Given the description of an element on the screen output the (x, y) to click on. 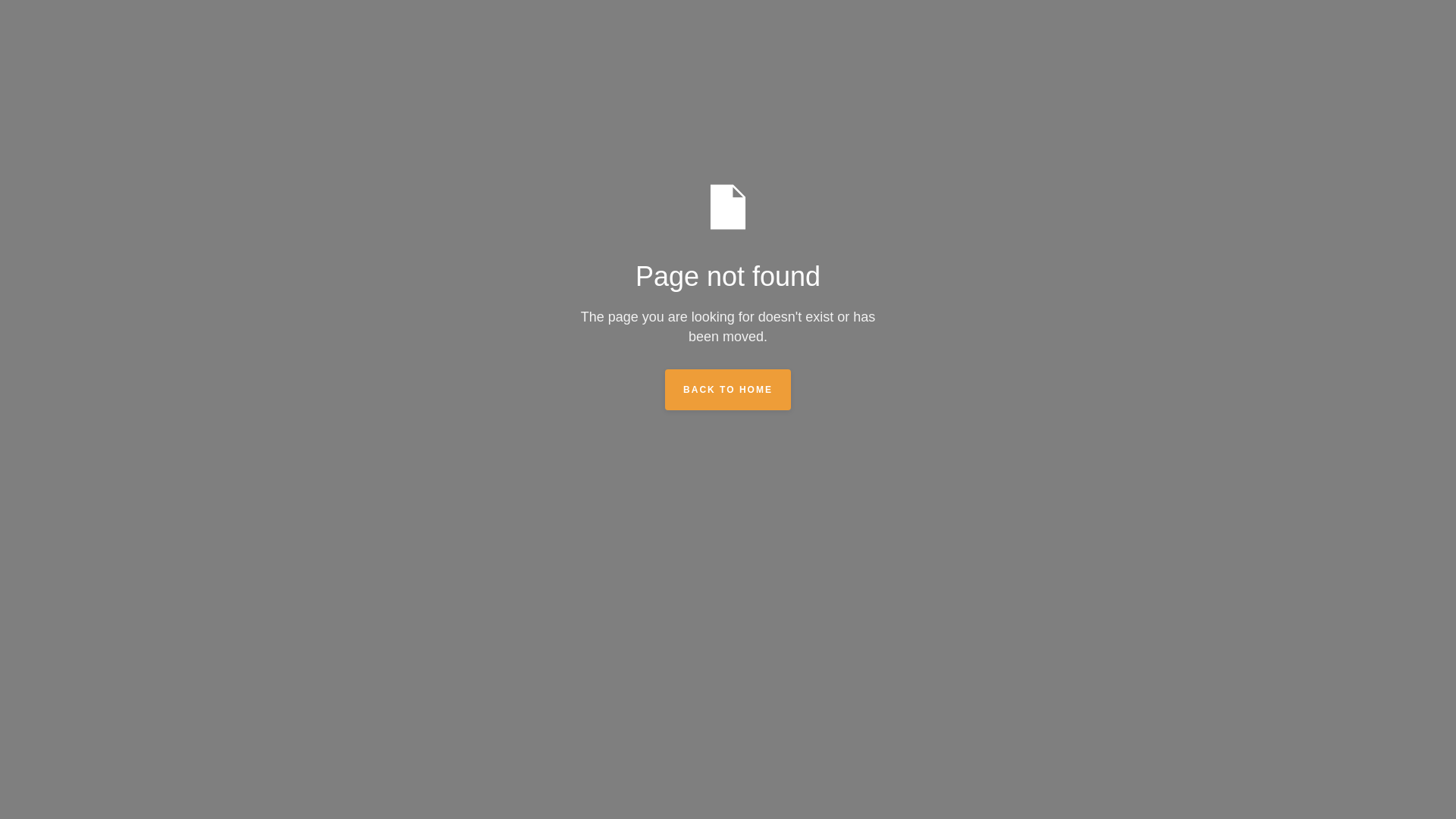
BACK TO HOME Element type: text (727, 389)
